Given the description of an element on the screen output the (x, y) to click on. 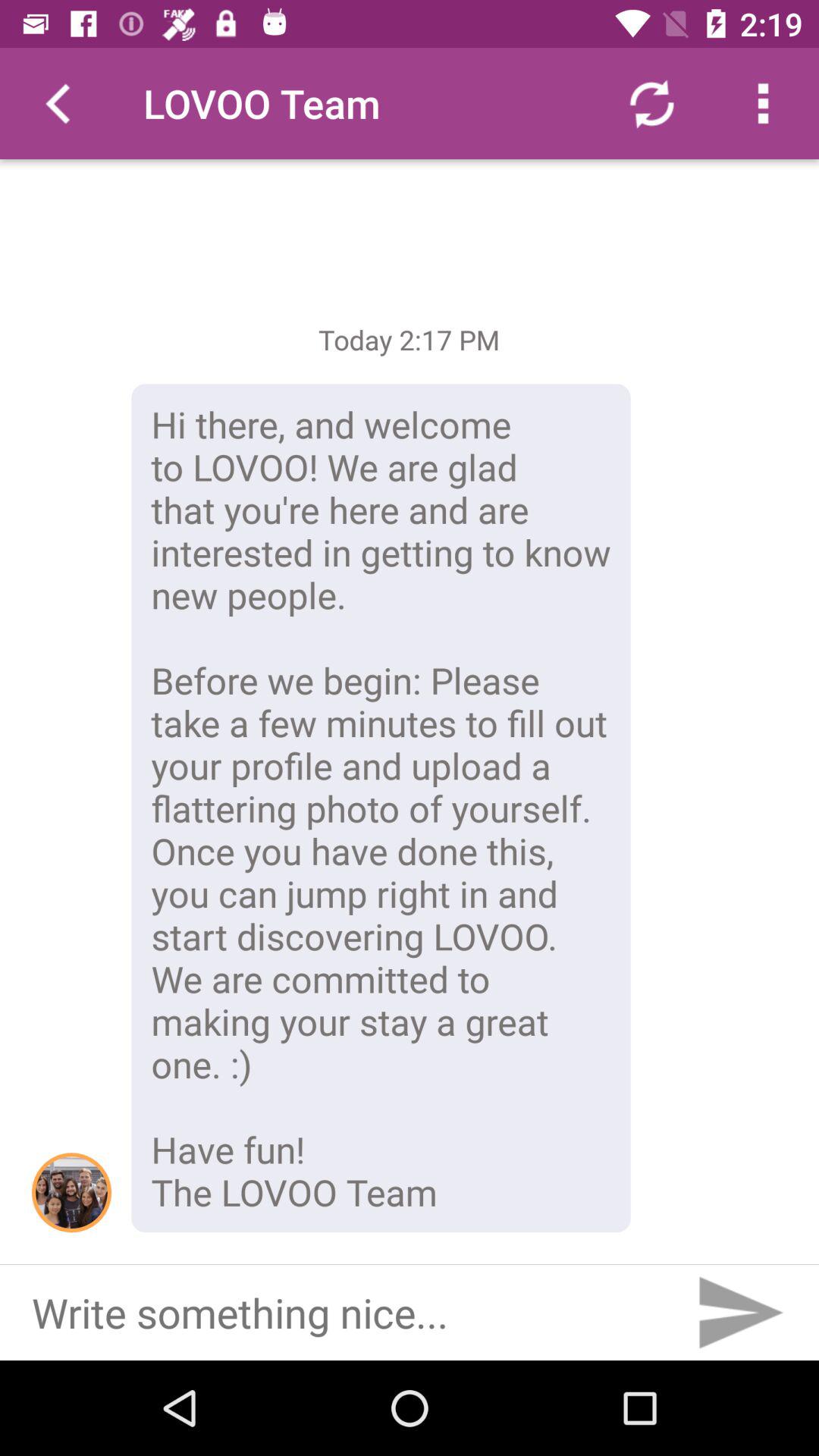
turn off icon below the today 2 17 (380, 807)
